Given the description of an element on the screen output the (x, y) to click on. 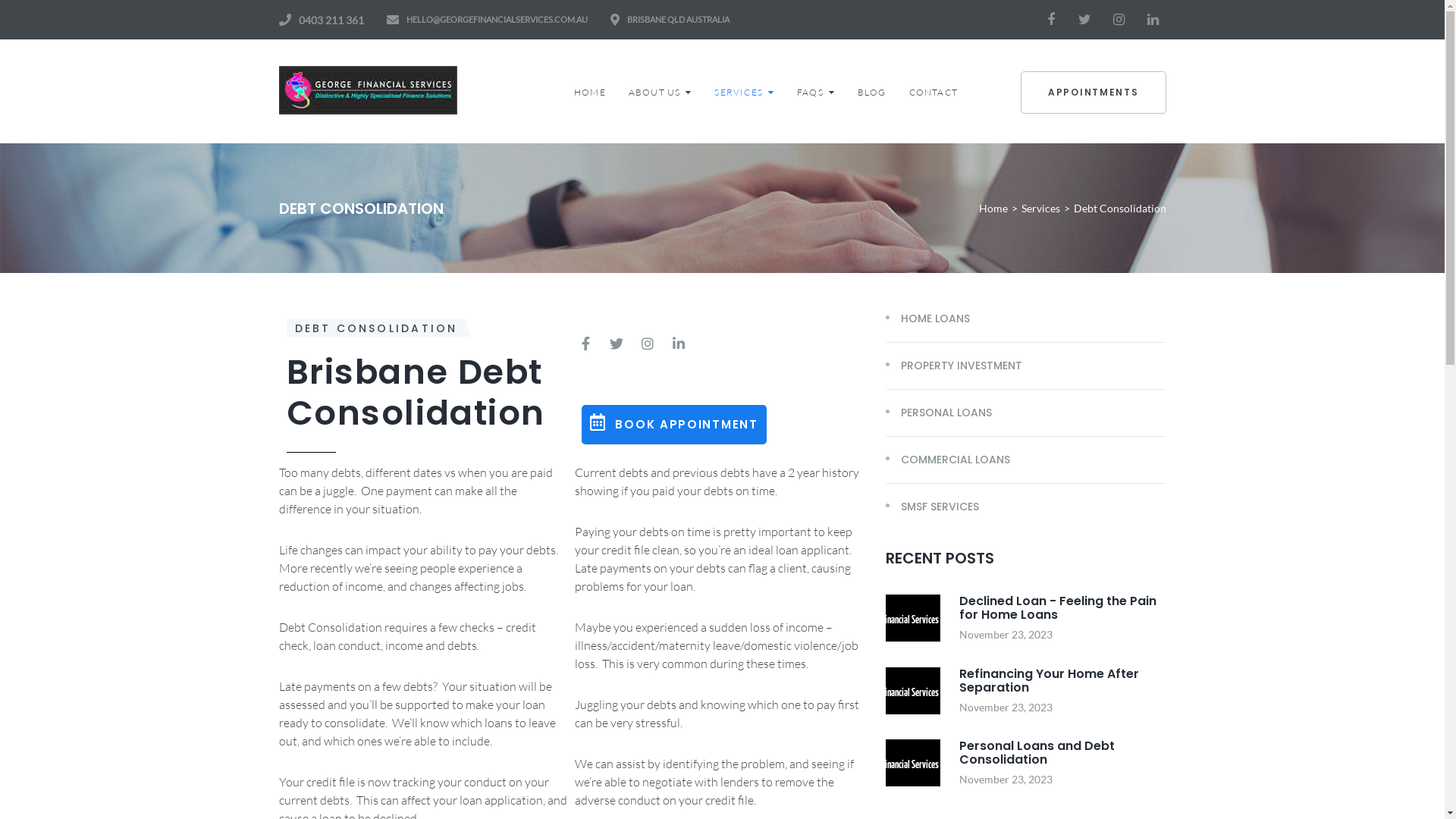
BOOK APPOINTMENT Element type: text (673, 424)
0403 211 361 Element type: text (331, 20)
COMMERCIAL LOANS Element type: text (947, 459)
Home Element type: text (992, 208)
FAQS Element type: text (815, 91)
PROPERTY INVESTMENT Element type: text (953, 365)
Services Element type: text (1039, 208)
HOME LOANS Element type: text (927, 318)
Refinancing Your Home After Separation Element type: text (1048, 679)
November 23, 2023 Element type: text (1004, 706)
SERVICES Element type: text (744, 91)
November 23, 2023 Element type: text (1004, 633)
HELLO@GEORGEFINANCIALSERVICES.COM.AU Element type: text (496, 19)
SMSF SERVICES Element type: text (932, 506)
APPOINTMENTS Element type: text (1092, 92)
Personal Loans and Debt Consolidation Element type: text (1035, 752)
Declined Loan - Feeling the Pain for Home Loans Element type: text (1056, 607)
CONTACT Element type: text (933, 91)
BLOG Element type: text (871, 91)
ABOUT US Element type: text (660, 91)
November 23, 2023 Element type: text (1004, 778)
PERSONAL LOANS Element type: text (938, 412)
HOME Element type: text (589, 91)
